Given the description of an element on the screen output the (x, y) to click on. 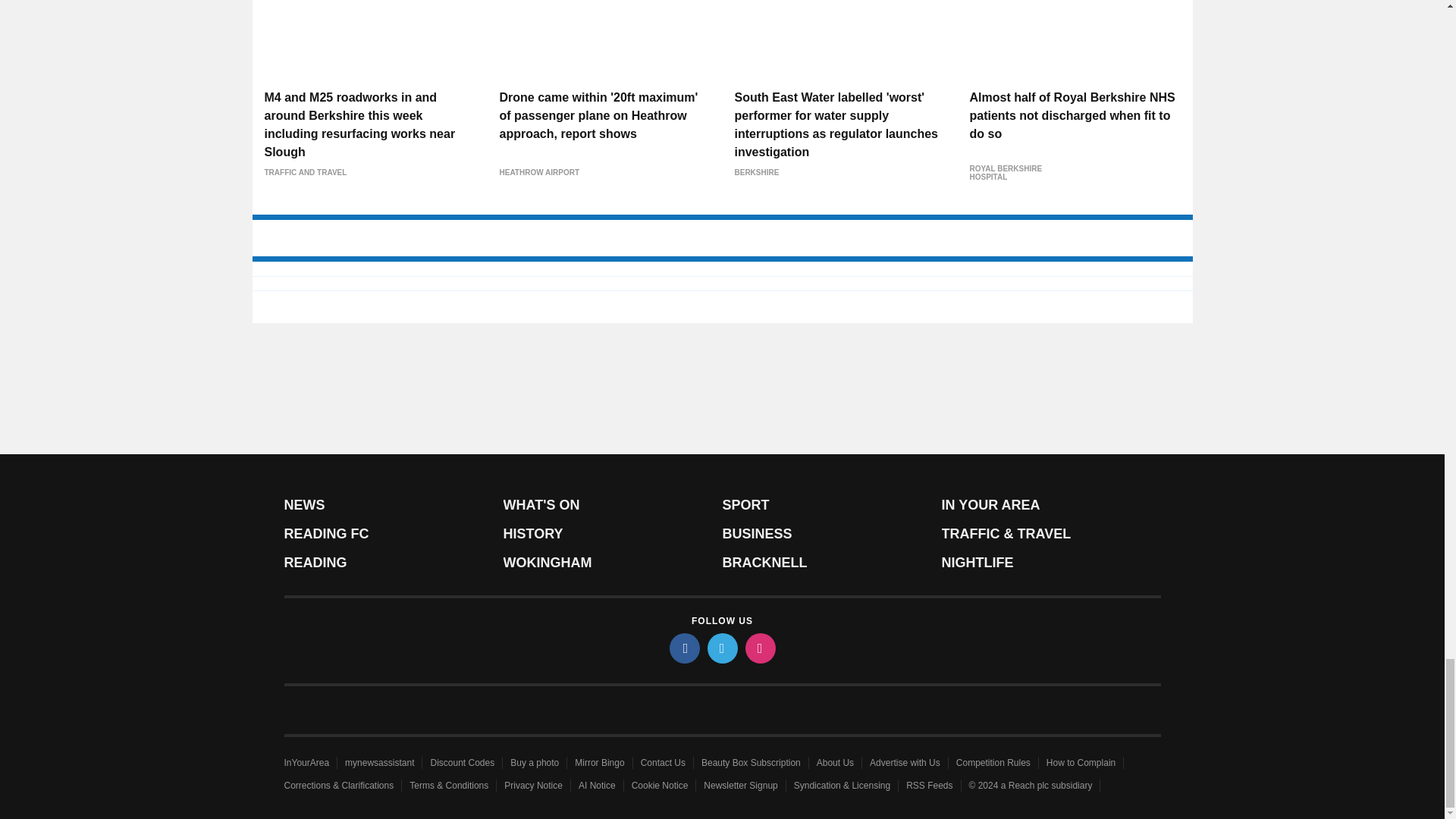
instagram (759, 648)
facebook (683, 648)
twitter (721, 648)
